Given the description of an element on the screen output the (x, y) to click on. 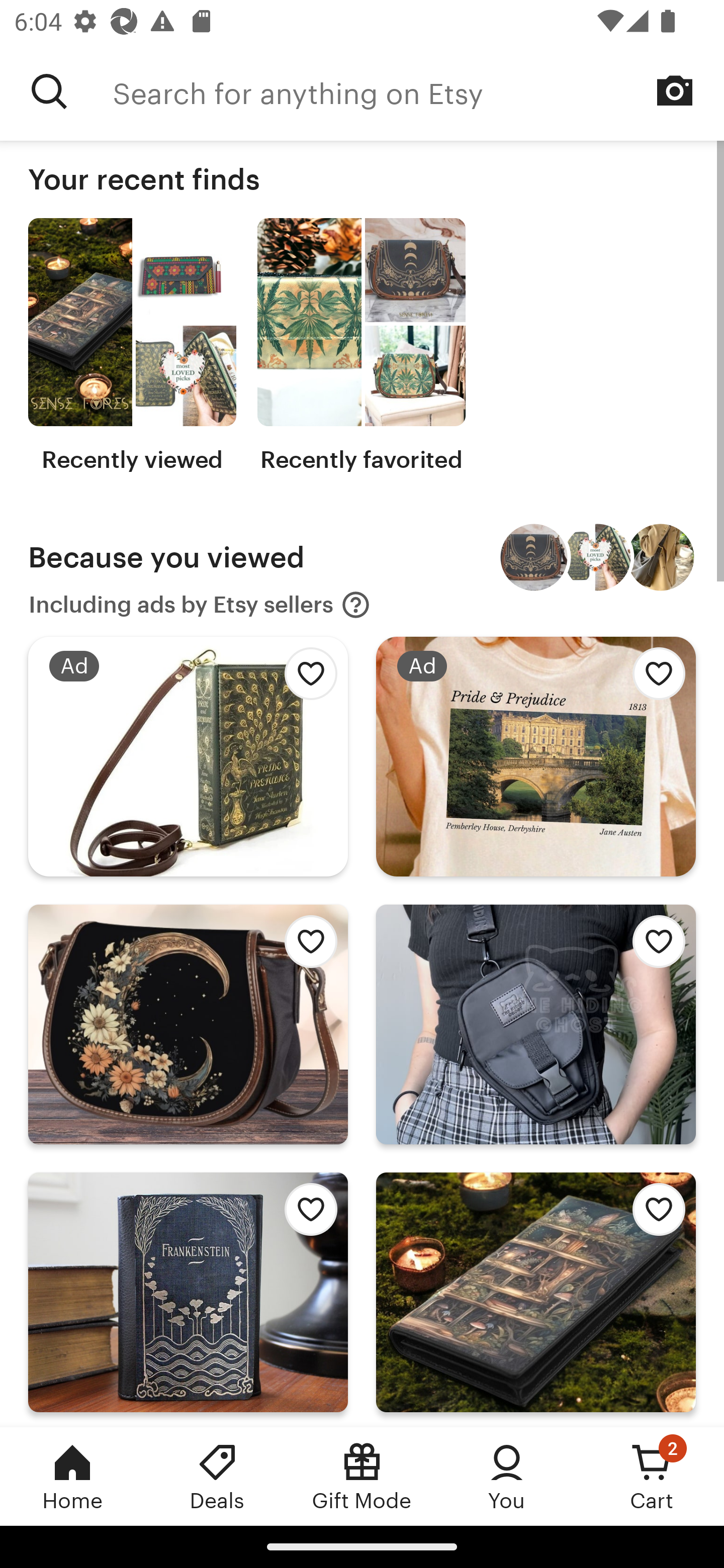
Search for anything on Etsy (49, 91)
Search by image (674, 90)
Search for anything on Etsy (418, 91)
Recently viewed (132, 345)
Recently favorited (361, 345)
Including ads by Etsy sellers (199, 604)
Deals (216, 1475)
Gift Mode (361, 1475)
You (506, 1475)
Cart, 2 new notifications Cart (651, 1475)
